Given the description of an element on the screen output the (x, y) to click on. 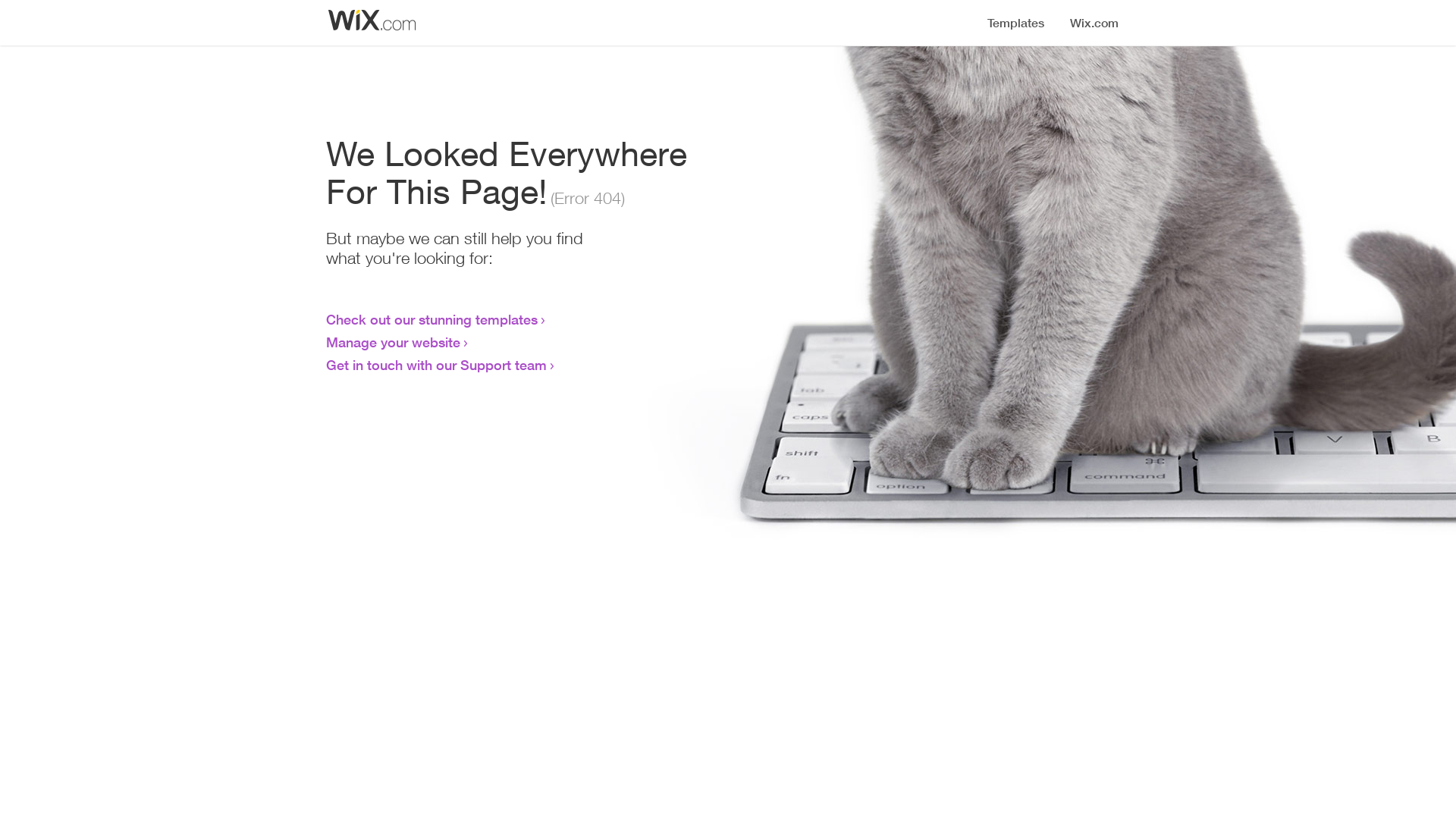
Manage your website Element type: text (393, 341)
Get in touch with our Support team Element type: text (436, 364)
Check out our stunning templates Element type: text (431, 318)
